Given the description of an element on the screen output the (x, y) to click on. 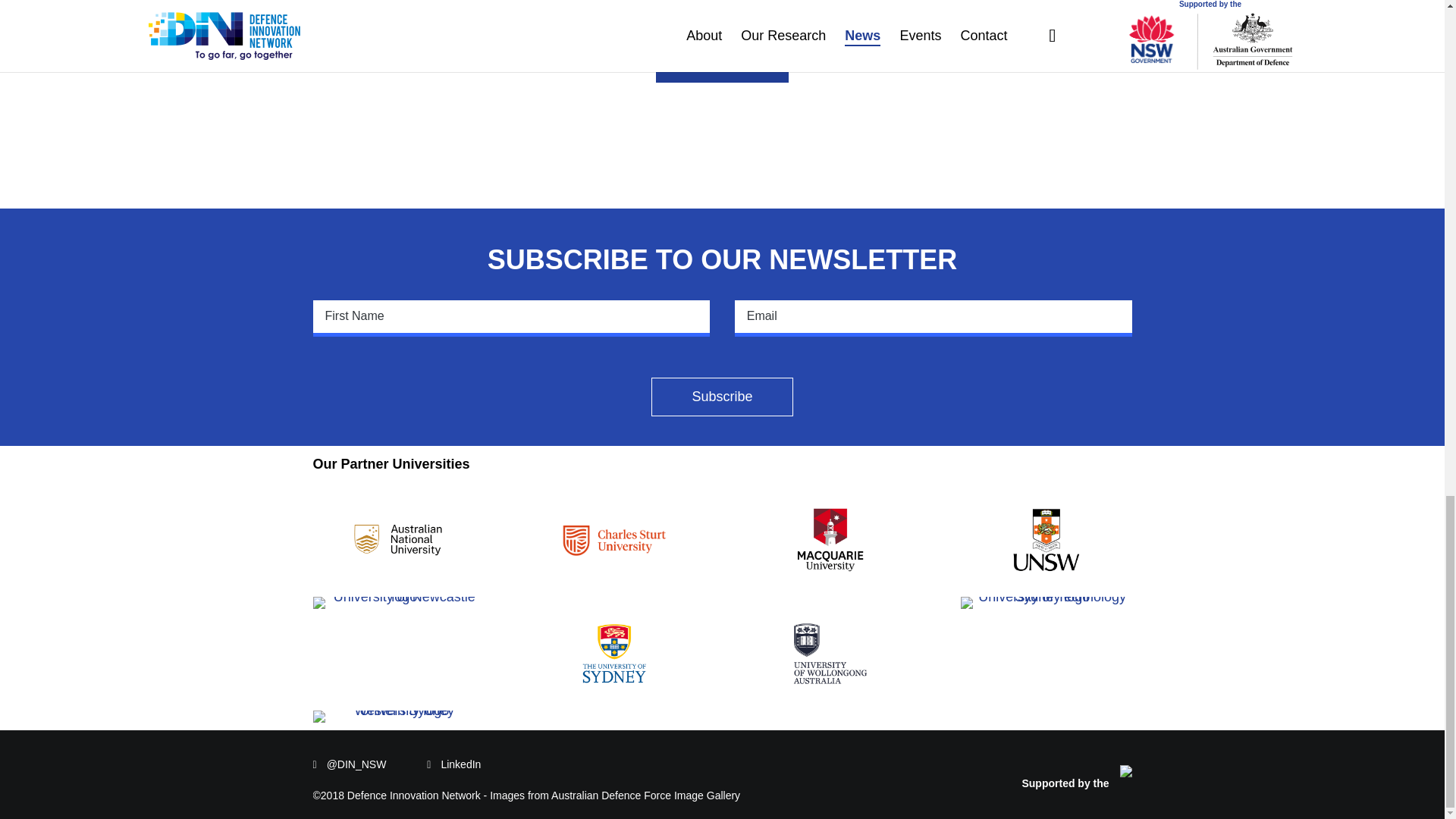
University of New South Wales (1046, 540)
Australian National University (397, 540)
University of Technology Sydney (1045, 603)
Macquarie university (829, 540)
Charles Sturt University (613, 540)
University of Wollongong (829, 653)
Subscribe (721, 396)
Western Sydney University (398, 716)
More info (722, 64)
University of Sydney (614, 653)
